Given the description of an element on the screen output the (x, y) to click on. 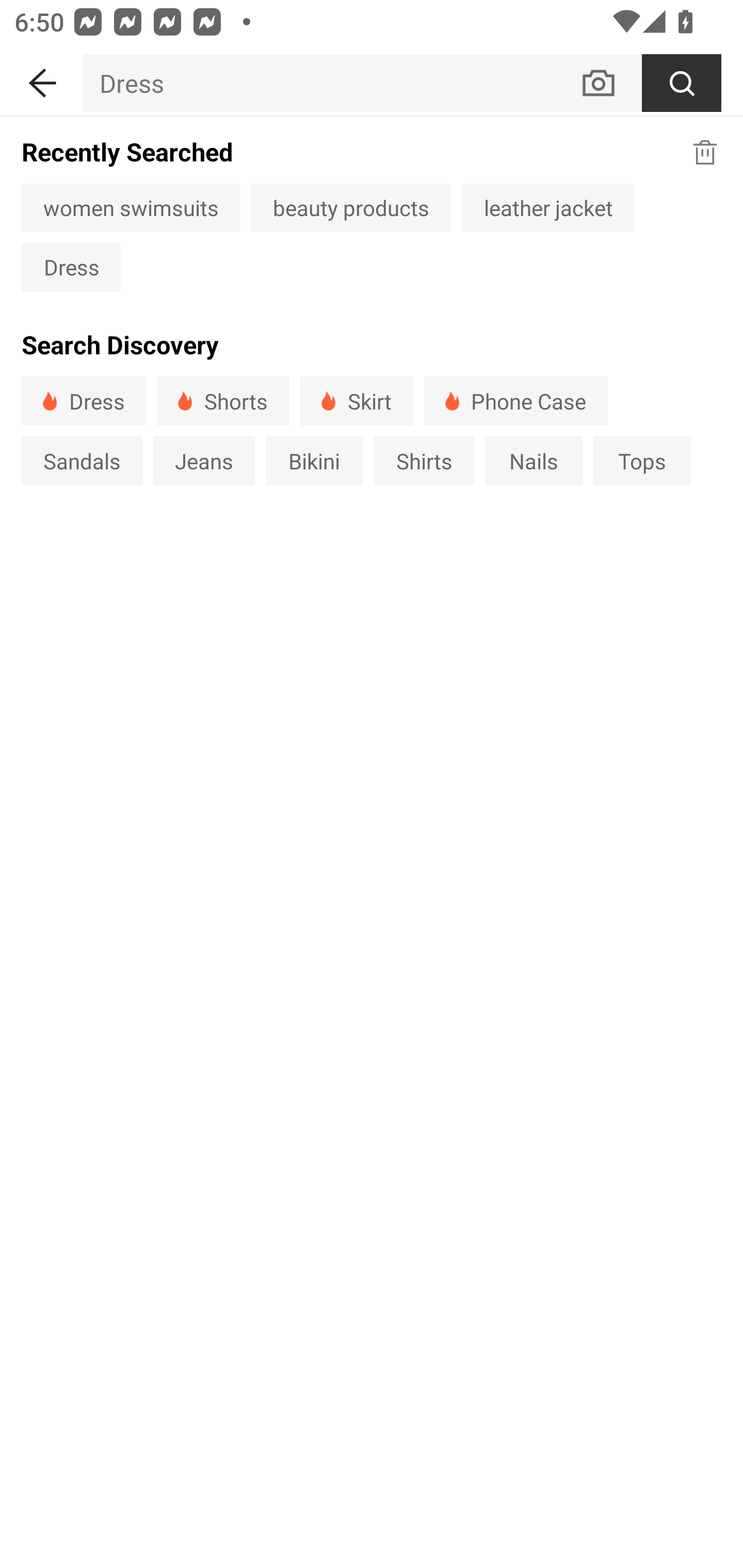
BACK (41, 79)
Dress (330, 82)
women swimsuits (130, 207)
beauty products (351, 207)
leather jacket (547, 207)
Dress (70, 267)
Dress (83, 400)
Shorts (222, 400)
Skirt (356, 400)
Phone Case (515, 400)
Sandals (81, 460)
Jeans (203, 460)
Bikini (314, 460)
Shirts (423, 460)
Nails (533, 460)
Tops (641, 460)
